Given the description of an element on the screen output the (x, y) to click on. 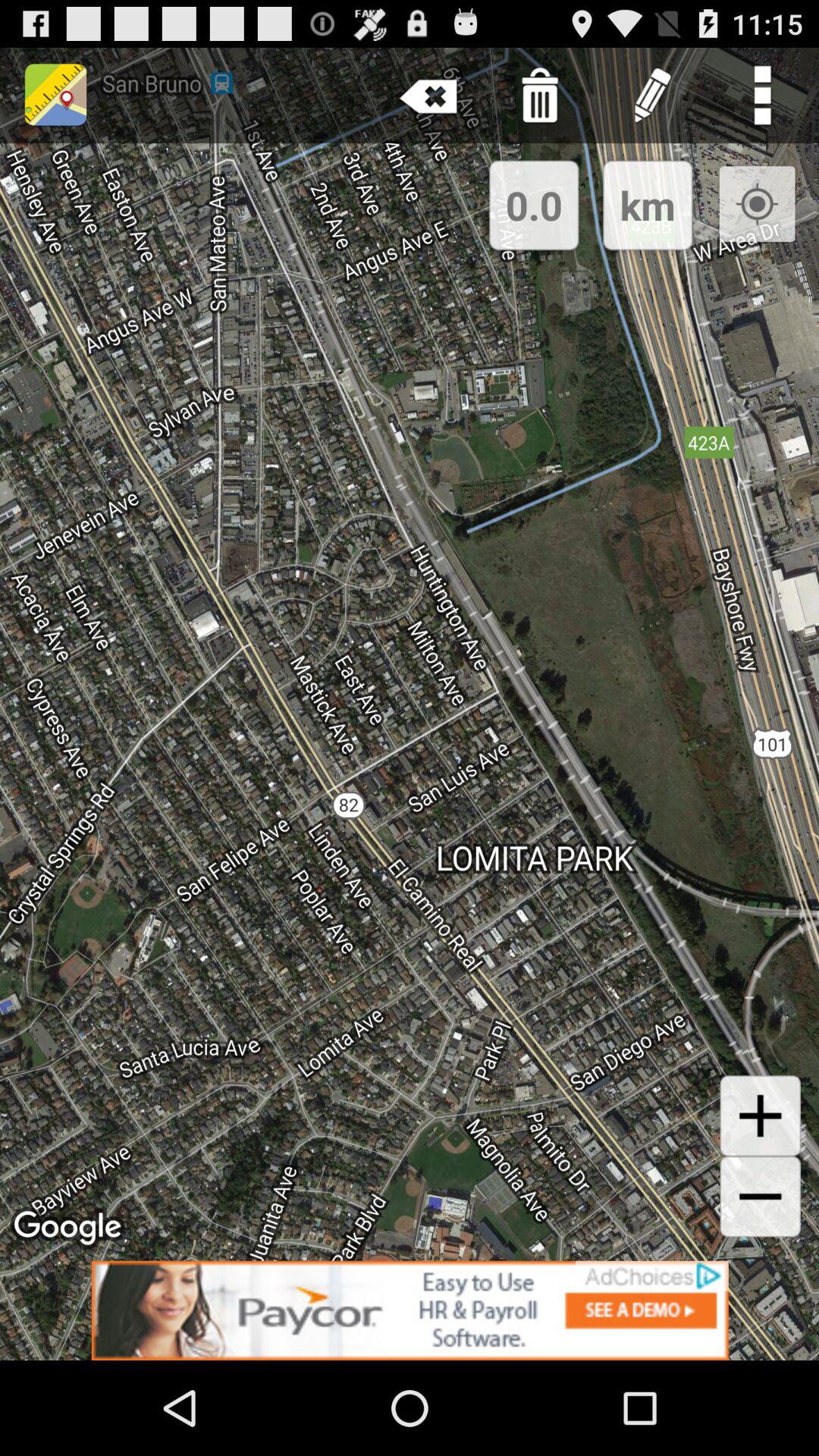
click on the  icon (760, 1115)
select the google logo on the web page (69, 1228)
click the more option from the top right (763, 95)
click the backspace button on the web page (428, 95)
select the place holder image from the top left (55, 95)
